Given the description of an element on the screen output the (x, y) to click on. 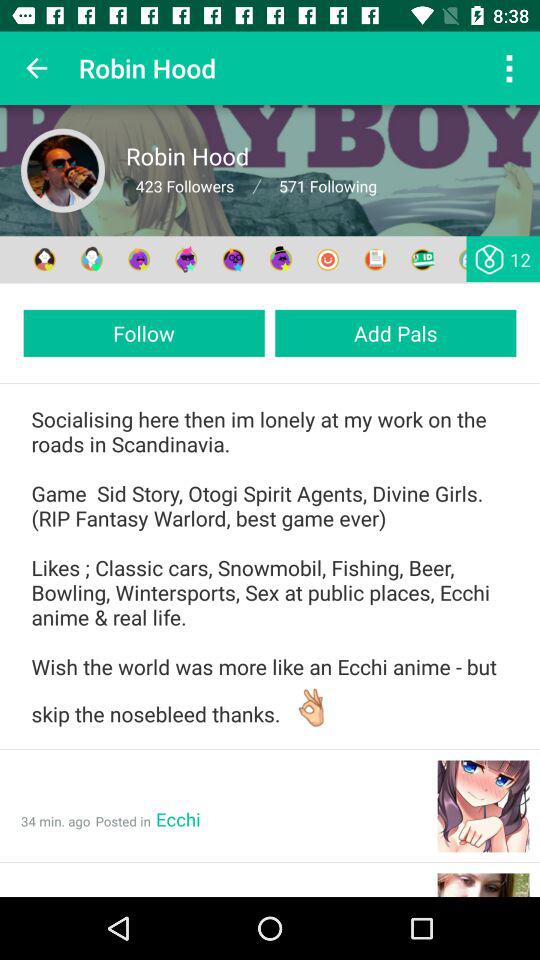
profile picture (63, 170)
